Given the description of an element on the screen output the (x, y) to click on. 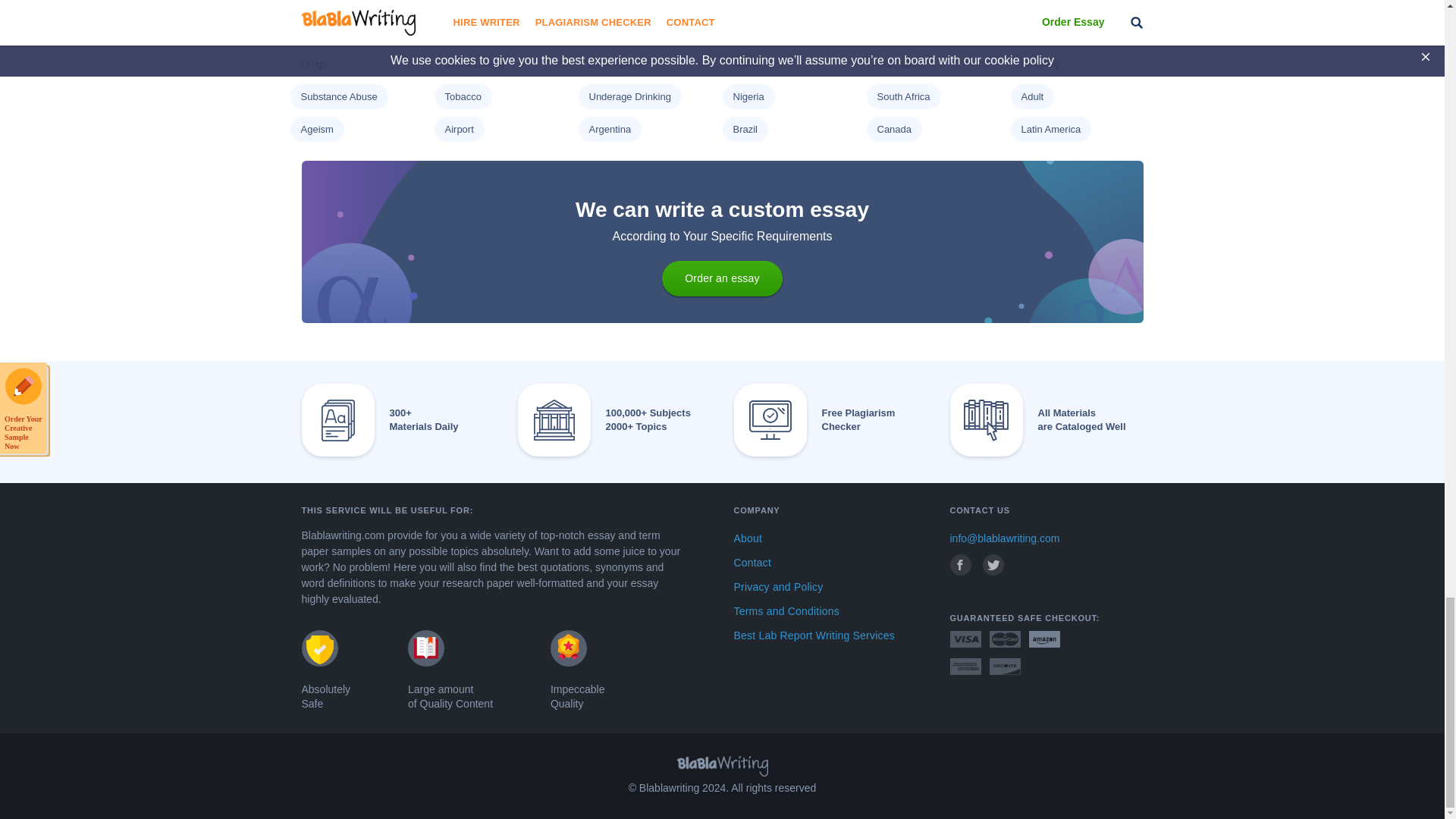
Balance Sheet (620, 2)
Cash (743, 2)
Audit (455, 2)
Socialism (320, 2)
Abuse (1034, 2)
Tax (883, 2)
